Given the description of an element on the screen output the (x, y) to click on. 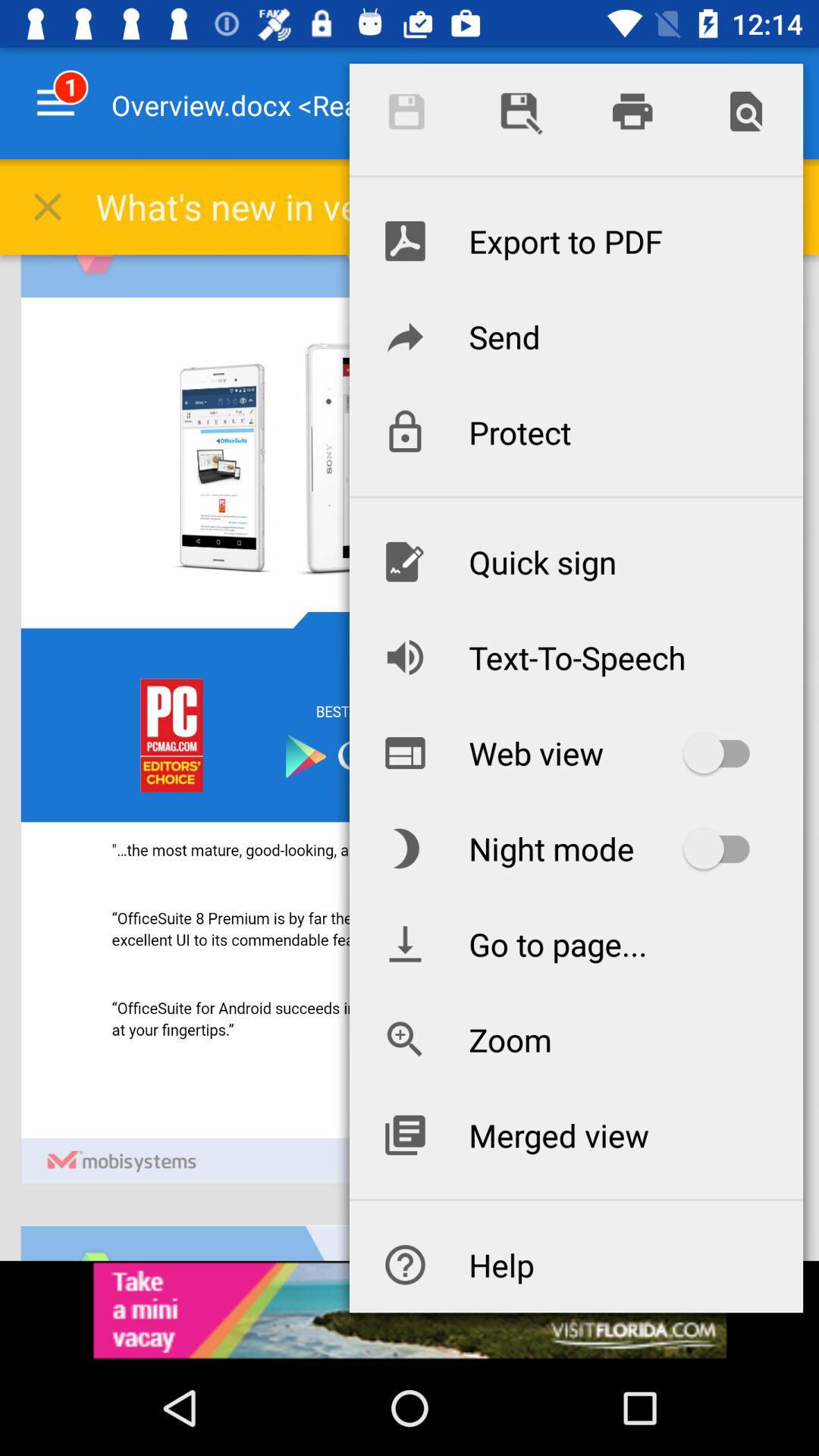
swipe to go to page... (576, 943)
